Given the description of an element on the screen output the (x, y) to click on. 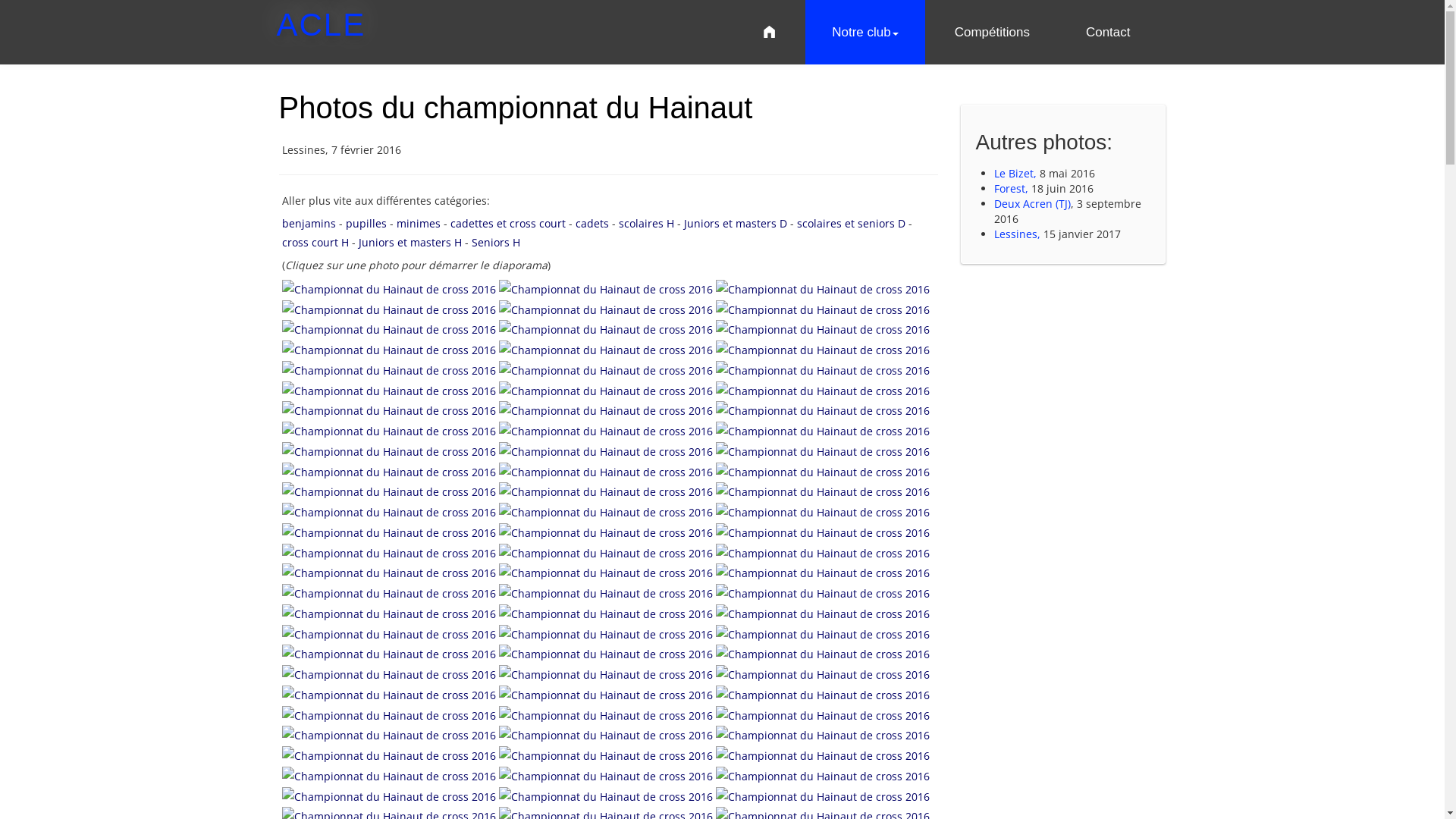
Championnat du Hainaut de cross 2016 Element type: hover (605, 511)
Championnat du Hainaut de cross 2016 Element type: hover (390, 591)
Championnat du Hainaut de cross 2016 Element type: hover (606, 389)
Championnat du Hainaut de cross 2016 Element type: hover (822, 430)
Championnat du Hainaut de cross 2016 Element type: hover (822, 287)
Championnat du Hainaut de cross 2016 Element type: hover (388, 734)
Championnat du Hainaut de cross 2016 Element type: hover (822, 532)
Championnat du Hainaut de cross 2016 Element type: hover (606, 470)
Contact Element type: text (1108, 32)
scolaires et seniors D Element type: text (850, 223)
Championnat du Hainaut de cross 2016 Element type: hover (606, 328)
Championnat du Hainaut de cross 2016 Element type: hover (822, 491)
Championnat du Hainaut de cross 2016 Element type: hover (605, 551)
Championnat du Hainaut de cross 2016 Element type: hover (606, 653)
Championnat du Hainaut de cross 2016 Element type: hover (388, 309)
Championnat du Hainaut de cross 2016 Element type: hover (390, 490)
Championnat du Hainaut de cross 2016 Element type: hover (822, 714)
Championnat du Hainaut de cross 2016 Element type: hover (388, 329)
Championnat du Hainaut de cross 2016 Element type: hover (605, 410)
Championnat du Hainaut de cross 2016 Element type: hover (390, 429)
Championnat du Hainaut de cross 2016 Element type: hover (822, 613)
Deux Acren (TJ) Element type: text (1032, 203)
Championnat du Hainaut de cross 2016 Element type: hover (605, 592)
Championnat du Hainaut de cross 2016 Element type: hover (605, 796)
Championnat du Hainaut de cross 2016 Element type: hover (606, 672)
Juniors et masters H Element type: text (409, 242)
Championnat du Hainaut de cross 2016 Element type: hover (822, 633)
Championnat du Hainaut de cross 2016 Element type: hover (388, 532)
pupilles Element type: text (365, 223)
minimes Element type: text (417, 223)
Championnat du Hainaut de cross 2016 Element type: hover (606, 490)
Championnat du Hainaut de cross 2016 Element type: hover (606, 733)
Championnat du Hainaut de cross 2016 Element type: hover (605, 633)
Championnat du Hainaut de cross 2016 Element type: hover (606, 531)
Championnat du Hainaut de cross 2016 Element type: hover (388, 389)
Championnat du Hainaut de cross 2016 Element type: hover (605, 491)
Championnat du Hainaut de cross 2016 Element type: hover (822, 551)
Championnat du Hainaut de cross 2016 Element type: hover (606, 612)
Championnat du Hainaut de cross 2016 Element type: hover (822, 796)
Championnat du Hainaut de cross 2016 Element type: hover (822, 490)
Championnat du Hainaut de cross 2016 Element type: hover (605, 288)
Championnat du Hainaut de cross 2016 Element type: hover (390, 328)
Championnat du Hainaut de cross 2016 Element type: hover (605, 309)
Championnat du Hainaut de cross 2016 Element type: hover (822, 328)
Championnat du Hainaut de cross 2016 Element type: hover (606, 287)
Championnat du Hainaut de cross 2016 Element type: hover (390, 510)
Championnat du Hainaut de cross 2016 Element type: hover (606, 408)
Championnat du Hainaut de cross 2016 Element type: hover (388, 471)
Championnat du Hainaut de cross 2016 Element type: hover (822, 308)
Championnat du Hainaut de cross 2016 Element type: hover (388, 674)
Championnat du Hainaut de cross 2016 Element type: hover (605, 349)
Championnat du Hainaut de cross 2016 Element type: hover (606, 449)
Championnat du Hainaut de cross 2016 Element type: hover (390, 612)
Championnat du Hainaut de cross 2016 Element type: hover (390, 774)
Championnat du Hainaut de cross 2016 Element type: hover (822, 449)
Championnat du Hainaut de cross 2016 Element type: hover (822, 471)
Seniors H Element type: text (495, 242)
Championnat du Hainaut de cross 2016 Element type: hover (605, 369)
Championnat du Hainaut de cross 2016 Element type: hover (388, 288)
Championnat du Hainaut de cross 2016 Element type: hover (822, 674)
Championnat du Hainaut de cross 2016 Element type: hover (605, 451)
Championnat du Hainaut de cross 2016 Element type: hover (390, 672)
cadettes et cross court Element type: text (507, 223)
Championnat du Hainaut de cross 2016 Element type: hover (822, 694)
Championnat du Hainaut de cross 2016 Element type: hover (605, 471)
Championnat du Hainaut de cross 2016 Element type: hover (606, 693)
Championnat du Hainaut de cross 2016 Element type: hover (605, 714)
Championnat du Hainaut de cross 2016 Element type: hover (606, 753)
Championnat du Hainaut de cross 2016 Element type: hover (390, 794)
Championnat du Hainaut de cross 2016 Element type: hover (390, 632)
cadets Element type: text (591, 223)
Championnat du Hainaut de cross 2016 Element type: hover (822, 329)
Championnat du Hainaut de cross 2016 Element type: hover (822, 755)
Championnat du Hainaut de cross 2016 Element type: hover (605, 389)
Championnat du Hainaut de cross 2016 Element type: hover (390, 693)
Championnat du Hainaut de cross 2016 Element type: hover (388, 714)
Championnat du Hainaut de cross 2016 Element type: hover (606, 774)
Championnat du Hainaut de cross 2016 Element type: hover (605, 329)
Championnat du Hainaut de cross 2016 Element type: hover (390, 733)
Championnat du Hainaut de cross 2016 Element type: hover (390, 551)
Championnat du Hainaut de cross 2016 Element type: hover (822, 408)
Championnat du Hainaut de cross 2016 Element type: hover (606, 429)
Championnat du Hainaut de cross 2016 Element type: hover (822, 592)
Championnat du Hainaut de cross 2016 Element type: hover (390, 449)
Championnat du Hainaut de cross 2016 Element type: hover (606, 794)
Championnat du Hainaut de cross 2016 Element type: hover (822, 612)
Championnat du Hainaut de cross 2016 Element type: hover (390, 408)
Championnat du Hainaut de cross 2016 Element type: hover (822, 572)
Championnat du Hainaut de cross 2016 Element type: hover (390, 531)
Championnat du Hainaut de cross 2016 Element type: hover (390, 389)
Championnat du Hainaut de cross 2016 Element type: hover (822, 653)
Championnat du Hainaut de cross 2016 Element type: hover (822, 591)
Championnat du Hainaut de cross 2016 Element type: hover (388, 551)
Championnat du Hainaut de cross 2016 Element type: hover (822, 389)
Championnat du Hainaut de cross 2016 Element type: hover (822, 369)
Championnat du Hainaut de cross 2016 Element type: hover (390, 571)
Juniors et masters D Element type: text (735, 223)
Championnat du Hainaut de cross 2016 Element type: hover (605, 775)
Championnat du Hainaut de cross 2016 Element type: hover (822, 288)
benjamins Element type: text (308, 223)
Championnat du Hainaut de cross 2016 Element type: hover (388, 694)
Championnat du Hainaut de cross 2016 Element type: hover (822, 794)
Championnat du Hainaut de cross 2016 Element type: hover (605, 755)
Championnat du Hainaut de cross 2016 Element type: hover (606, 348)
Championnat du Hainaut de cross 2016 Element type: hover (390, 470)
Championnat du Hainaut de cross 2016 Element type: hover (822, 551)
Championnat du Hainaut de cross 2016 Element type: hover (390, 753)
Championnat du Hainaut de cross 2016 Element type: hover (822, 309)
Championnat du Hainaut de cross 2016 Element type: hover (822, 775)
Championnat du Hainaut de cross 2016 Element type: hover (605, 734)
Championnat du Hainaut de cross 2016 Element type: hover (388, 653)
Championnat du Hainaut de cross 2016 Element type: hover (822, 349)
Championnat du Hainaut de cross 2016 Element type: hover (822, 511)
Championnat du Hainaut de cross 2016 Element type: hover (822, 713)
Le Bizet, Element type: text (1016, 173)
Championnat du Hainaut de cross 2016 Element type: hover (822, 774)
Championnat du Hainaut de cross 2016 Element type: hover (606, 510)
Championnat du Hainaut de cross 2016 Element type: hover (390, 653)
Championnat du Hainaut de cross 2016 Element type: hover (390, 368)
Championnat du Hainaut de cross 2016 Element type: hover (388, 775)
Championnat du Hainaut de cross 2016 Element type: hover (390, 287)
Championnat du Hainaut de cross 2016 Element type: hover (390, 348)
Championnat du Hainaut de cross 2016 Element type: hover (606, 632)
Championnat du Hainaut de cross 2016 Element type: hover (822, 389)
Championnat du Hainaut de cross 2016 Element type: hover (605, 694)
Championnat du Hainaut de cross 2016 Element type: hover (388, 491)
Championnat du Hainaut de cross 2016 Element type: hover (388, 410)
Championnat du Hainaut de cross 2016 Element type: hover (605, 572)
Championnat du Hainaut de cross 2016 Element type: hover (388, 755)
scolaires H Element type: text (646, 223)
Championnat du Hainaut de cross 2016 Element type: hover (388, 633)
Championnat du Hainaut de cross 2016 Element type: hover (822, 470)
Championnat du Hainaut de cross 2016 Element type: hover (822, 510)
Championnat du Hainaut de cross 2016 Element type: hover (388, 430)
Championnat du Hainaut de cross 2016 Element type: hover (822, 571)
Championnat du Hainaut de cross 2016 Element type: hover (605, 613)
Championnat du Hainaut de cross 2016 Element type: hover (605, 532)
Championnat du Hainaut de cross 2016 Element type: hover (390, 713)
Championnat du Hainaut de cross 2016 Element type: hover (388, 592)
Forest, Element type: text (1012, 188)
Championnat du Hainaut de cross 2016 Element type: hover (822, 693)
Championnat du Hainaut de cross 2016 Element type: hover (605, 653)
ACLE Element type: text (320, 24)
cross court H Element type: text (315, 242)
Championnat du Hainaut de cross 2016 Element type: hover (388, 572)
Championnat du Hainaut de cross 2016 Element type: hover (388, 451)
Lessines, Element type: text (1017, 233)
Championnat du Hainaut de cross 2016 Element type: hover (822, 672)
Championnat du Hainaut de cross 2016 Element type: hover (606, 591)
Championnat du Hainaut de cross 2016 Element type: hover (822, 632)
Championnat du Hainaut de cross 2016 Element type: hover (605, 674)
Championnat du Hainaut de cross 2016 Element type: hover (822, 753)
Championnat du Hainaut de cross 2016 Element type: hover (606, 308)
Championnat du Hainaut de cross 2016 Element type: hover (605, 430)
Championnat du Hainaut de cross 2016 Element type: hover (606, 713)
Championnat du Hainaut de cross 2016 Element type: hover (606, 368)
Championnat du Hainaut de cross 2016 Element type: hover (822, 733)
Championnat du Hainaut de cross 2016 Element type: hover (606, 571)
Championnat du Hainaut de cross 2016 Element type: hover (822, 410)
Championnat du Hainaut de cross 2016 Element type: hover (388, 511)
Championnat du Hainaut de cross 2016 Element type: hover (388, 796)
Championnat du Hainaut de cross 2016 Element type: hover (822, 451)
Championnat du Hainaut de cross 2016 Element type: hover (390, 308)
Championnat du Hainaut de cross 2016 Element type: hover (822, 653)
Championnat du Hainaut de cross 2016 Element type: hover (822, 734)
Notre club Element type: text (864, 32)
Championnat du Hainaut de cross 2016 Element type: hover (388, 613)
Championnat du Hainaut de cross 2016 Element type: hover (822, 368)
Championnat du Hainaut de cross 2016 Element type: hover (822, 429)
Championnat du Hainaut de cross 2016 Element type: hover (388, 369)
Championnat du Hainaut de cross 2016 Element type: hover (606, 551)
Championnat du Hainaut de cross 2016 Element type: hover (822, 531)
Championnat du Hainaut de cross 2016 Element type: hover (388, 349)
Championnat du Hainaut de cross 2016 Element type: hover (822, 348)
